Given the description of an element on the screen output the (x, y) to click on. 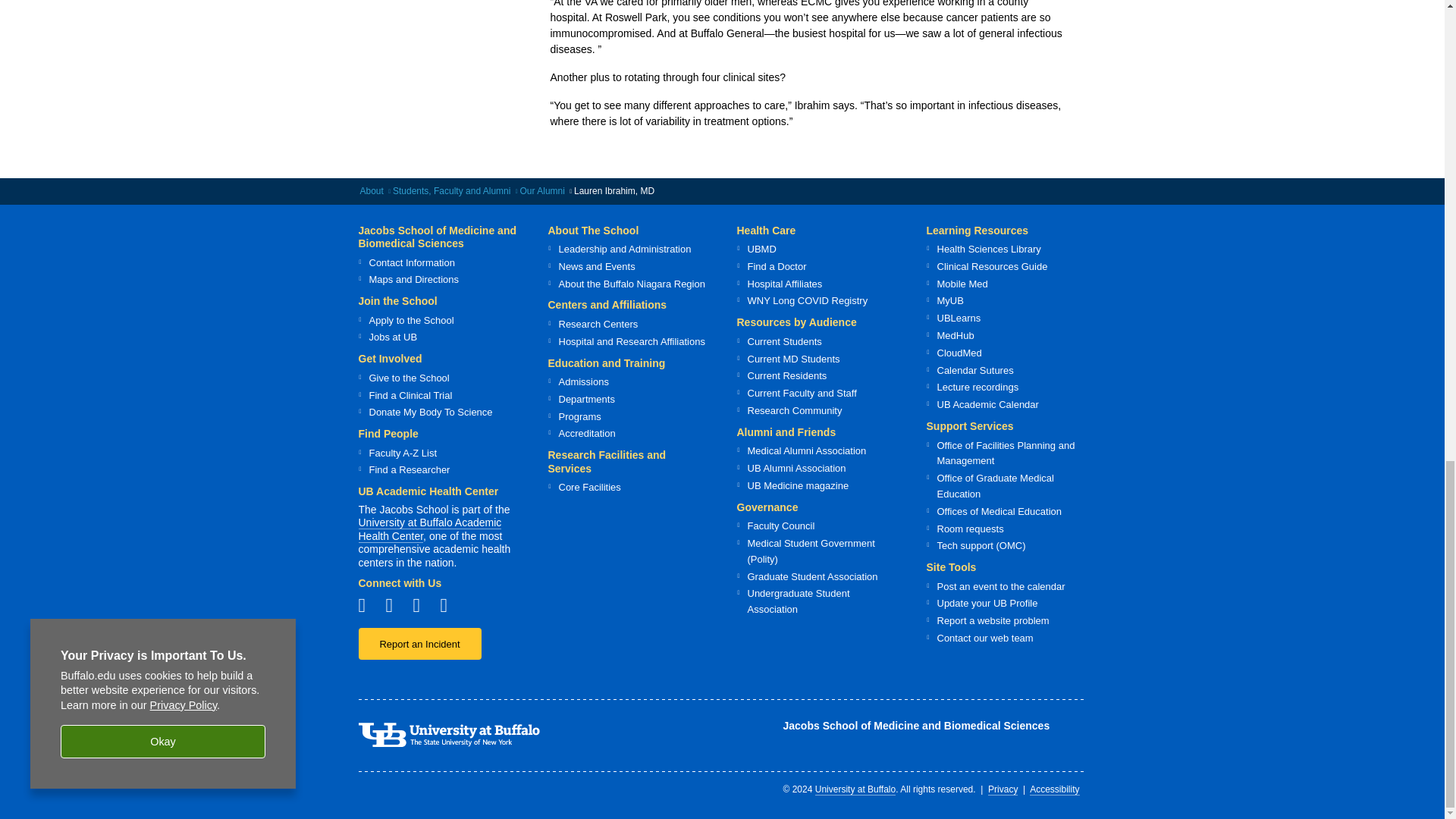
Jacobs School on X (422, 605)
Jacobs School on Instagram (394, 605)
Jacobs School on Linkedin (449, 605)
Jacobs School on Facebook (367, 605)
